Given the description of an element on the screen output the (x, y) to click on. 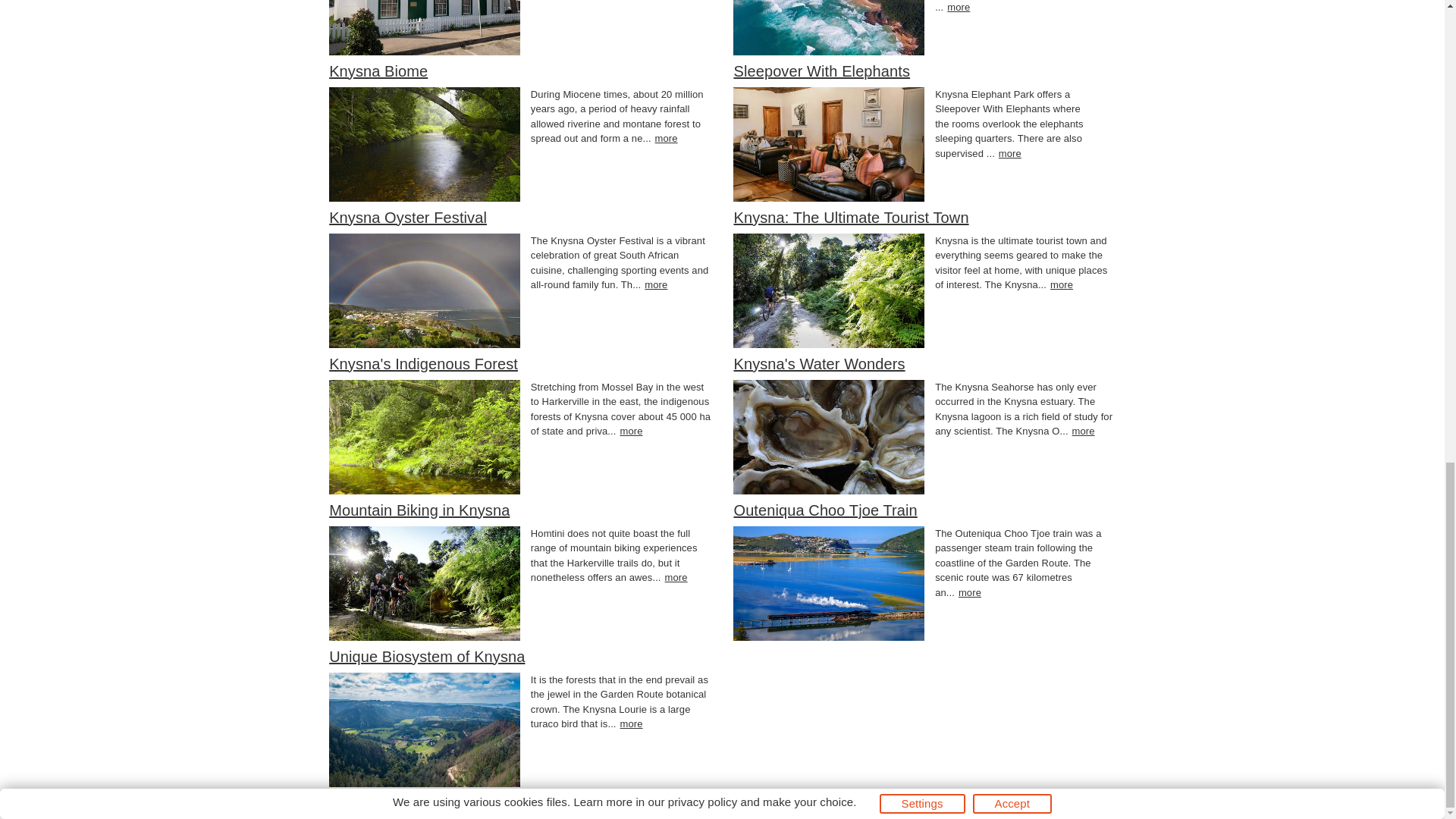
more (969, 592)
Knysna Biome (378, 71)
more (1082, 430)
more (631, 430)
Unique Biosystem of Knysna (426, 656)
Sleepover With Elephants (821, 71)
Knysna: The Ultimate Tourist Town (850, 217)
more (1061, 284)
Knysna's Indigenous Forest (423, 363)
Outeniqua Choo Tjoe Train (825, 510)
Knysna's Water Wonders (818, 363)
more (666, 138)
Knysna Oyster Festival (407, 217)
more (958, 7)
Mountain Biking in Knysna (419, 510)
